Given the description of an element on the screen output the (x, y) to click on. 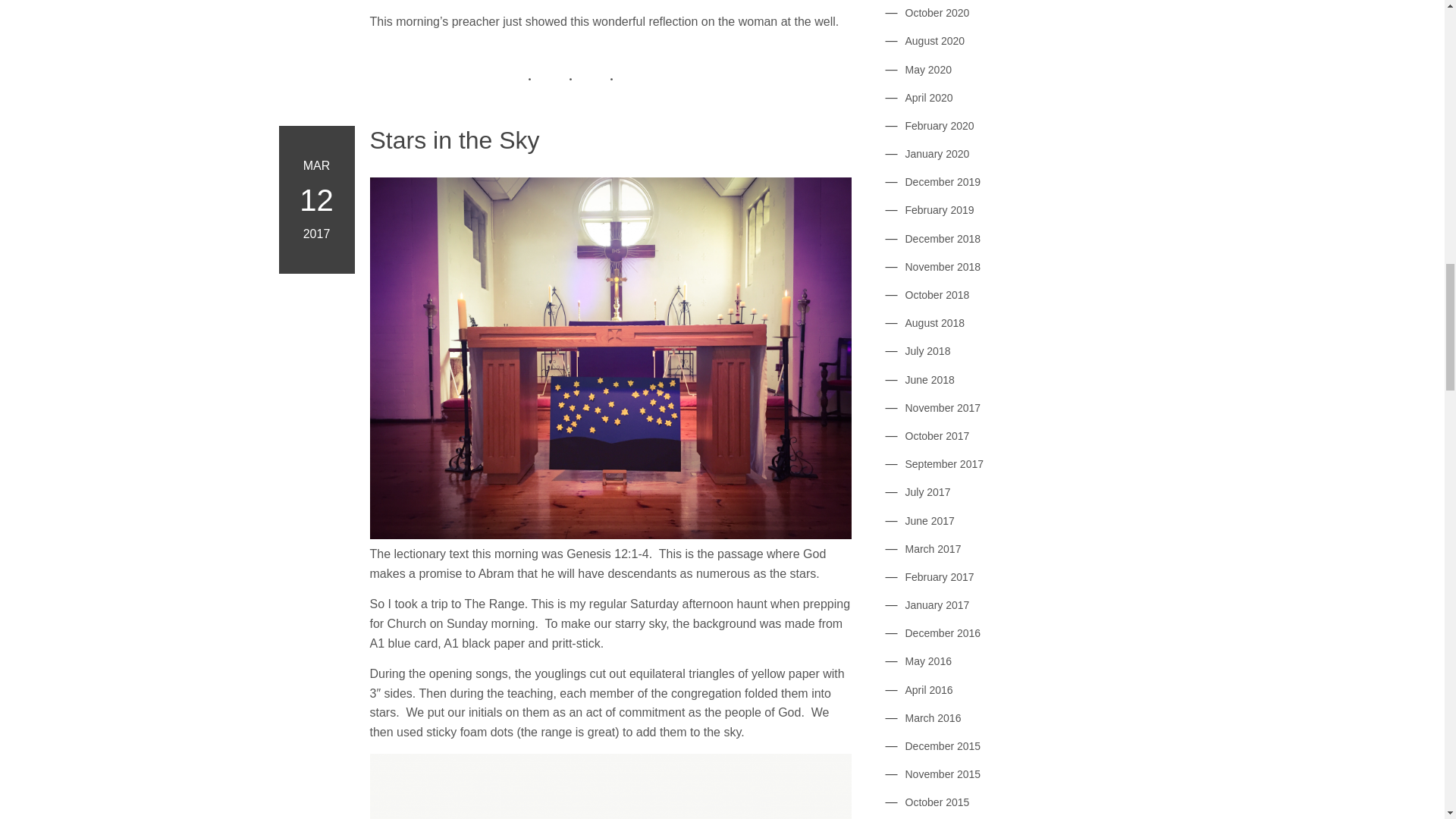
Stars in the Sky (610, 140)
